Given the description of an element on the screen output the (x, y) to click on. 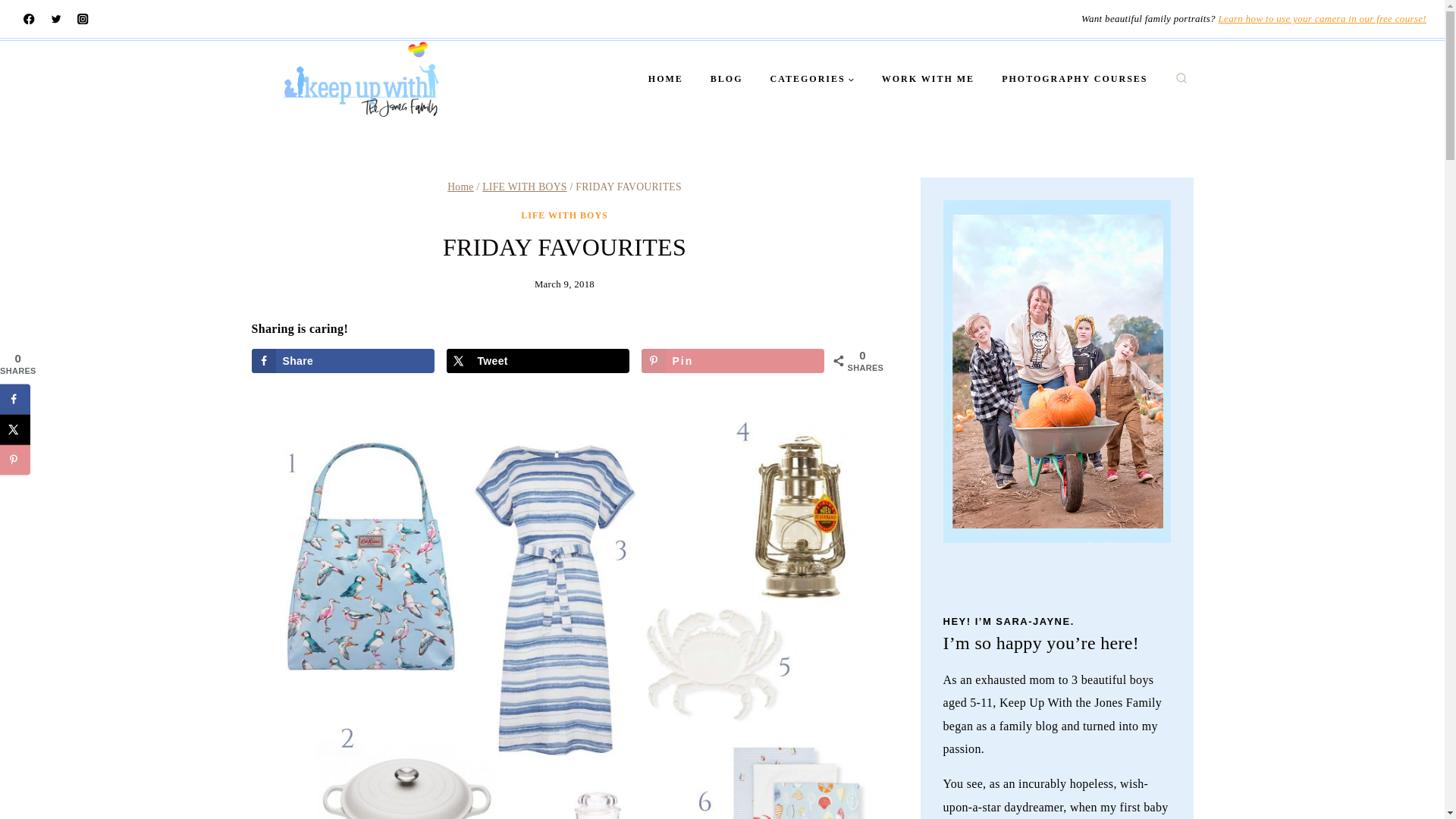
Home (460, 186)
Save to Pinterest (733, 360)
Share on Facebook (343, 360)
LIFE WITH BOYS (564, 214)
Pin (733, 360)
LIFE WITH BOYS (523, 186)
Share (343, 360)
Share on X (538, 360)
Share on Facebook (15, 399)
PHOTOGRAPHY COURSES (1074, 79)
Save to Pinterest (15, 459)
Share on X (15, 429)
HOME (665, 79)
Tweet (538, 360)
Learn how to use your camera in our free course! (1322, 18)
